Given the description of an element on the screen output the (x, y) to click on. 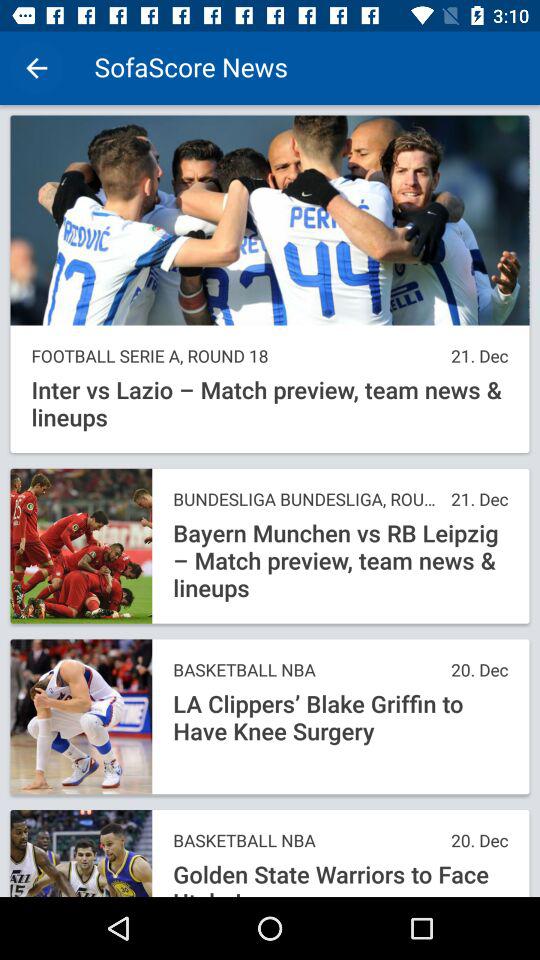
open the item below bundesliga bundesliga round item (340, 561)
